Given the description of an element on the screen output the (x, y) to click on. 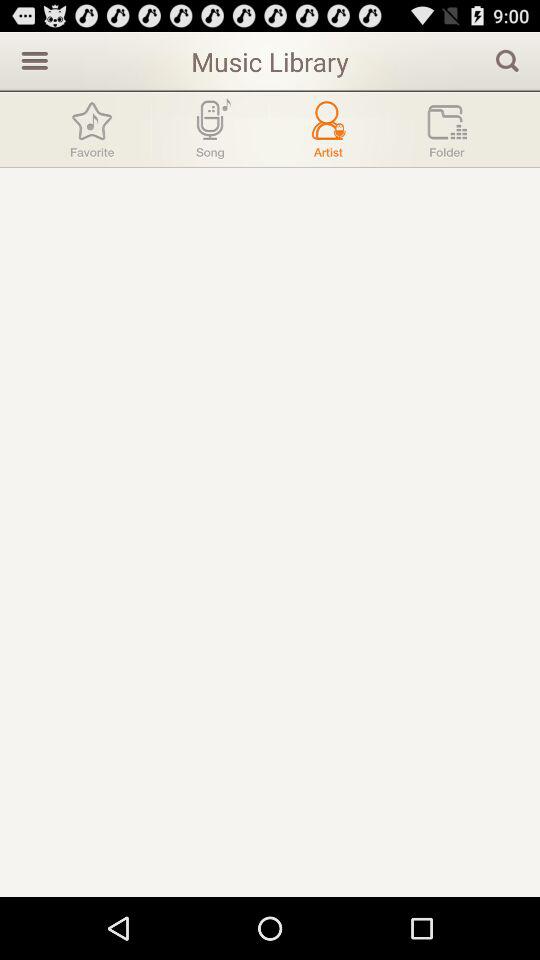
click item below music library item (210, 129)
